Given the description of an element on the screen output the (x, y) to click on. 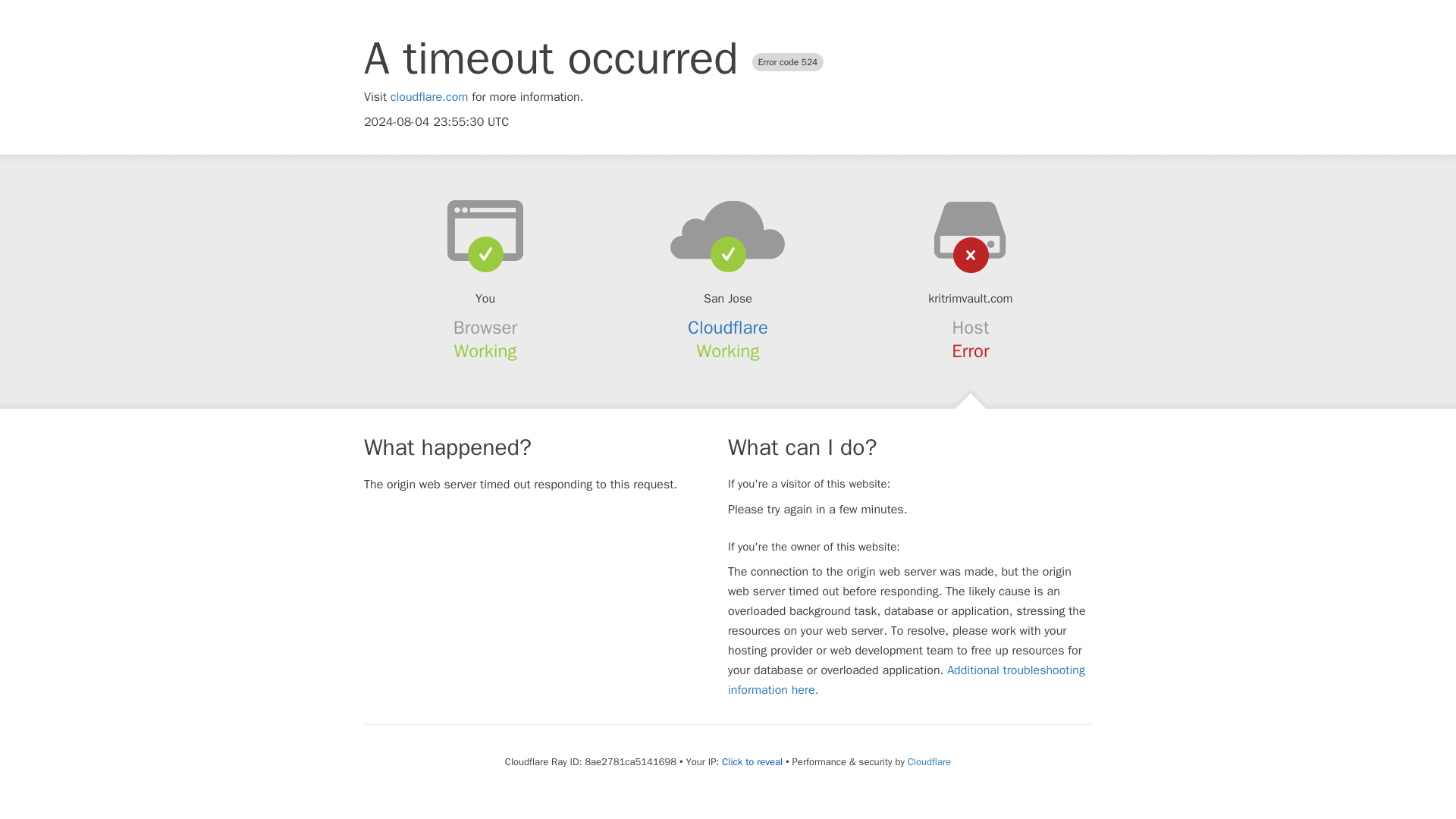
Cloudflare (928, 761)
Cloudflare (727, 327)
cloudflare.com (429, 96)
Additional troubleshooting information here. (906, 679)
Click to reveal (752, 762)
